Given the description of an element on the screen output the (x, y) to click on. 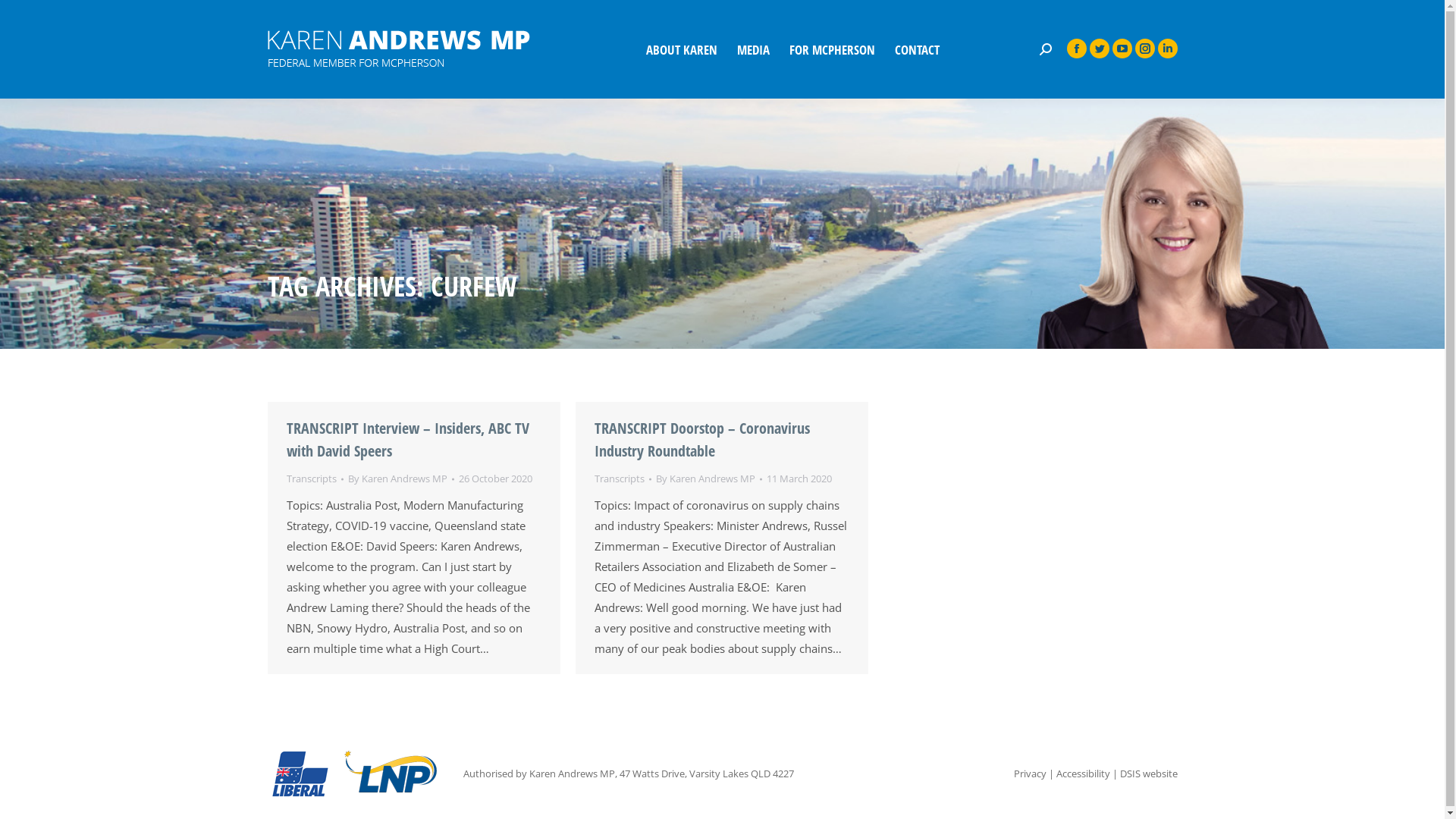
Twitter page opens in new window Element type: text (1098, 48)
Instagram page opens in new window Element type: text (1144, 48)
11 March 2020 Element type: text (798, 478)
26 October 2020 Element type: text (494, 478)
FOR MCPHERSON Element type: text (831, 48)
Privacy Element type: text (1029, 773)
By Karen Andrews MP Element type: text (708, 478)
By Karen Andrews MP Element type: text (400, 478)
DSIS website Element type: text (1147, 773)
Facebook page opens in new window Element type: text (1075, 48)
Transcripts Element type: text (619, 478)
MEDIA Element type: text (753, 48)
Go! Element type: text (28, 15)
Transcripts Element type: text (311, 478)
CONTACT Element type: text (916, 48)
ABOUT KAREN Element type: text (681, 48)
YouTube page opens in new window Element type: text (1121, 48)
Linkedin page opens in new window Element type: text (1166, 48)
Accessibility Element type: text (1082, 773)
